Given the description of an element on the screen output the (x, y) to click on. 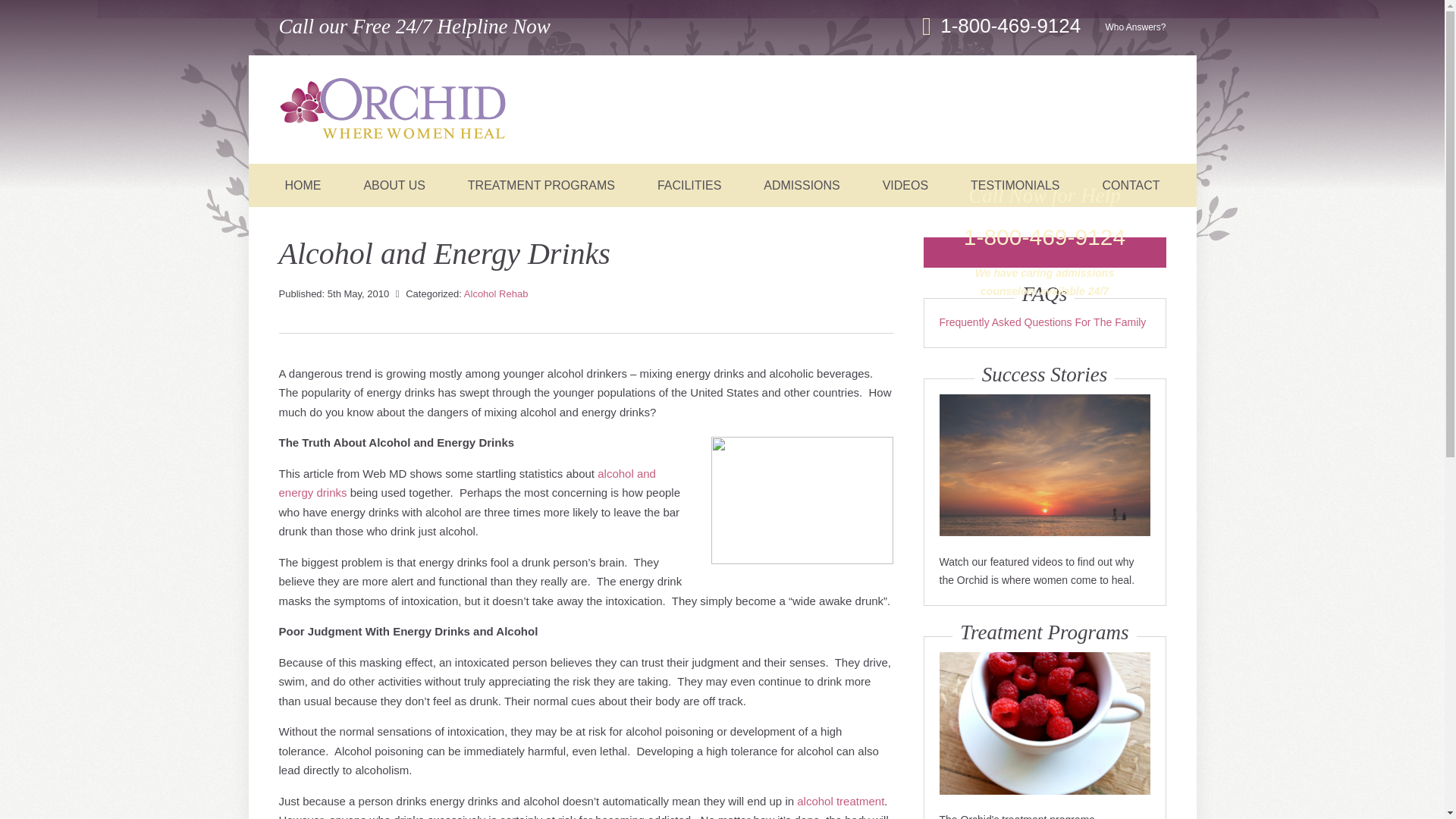
Home (392, 110)
ADMISSIONS (801, 185)
VIDEOS (905, 185)
FACILITIES (689, 185)
TREATMENT PROGRAMS (540, 185)
alcohol treatment (839, 800)
ABOUT US (393, 185)
1-800-469-9124 (1013, 25)
Alcohol and Energy Drinks (802, 500)
Alcohol Rehab (496, 293)
CONTACT (1130, 185)
TESTIMONIALS (1015, 185)
alcohol and energy drinks (467, 482)
